Given the description of an element on the screen output the (x, y) to click on. 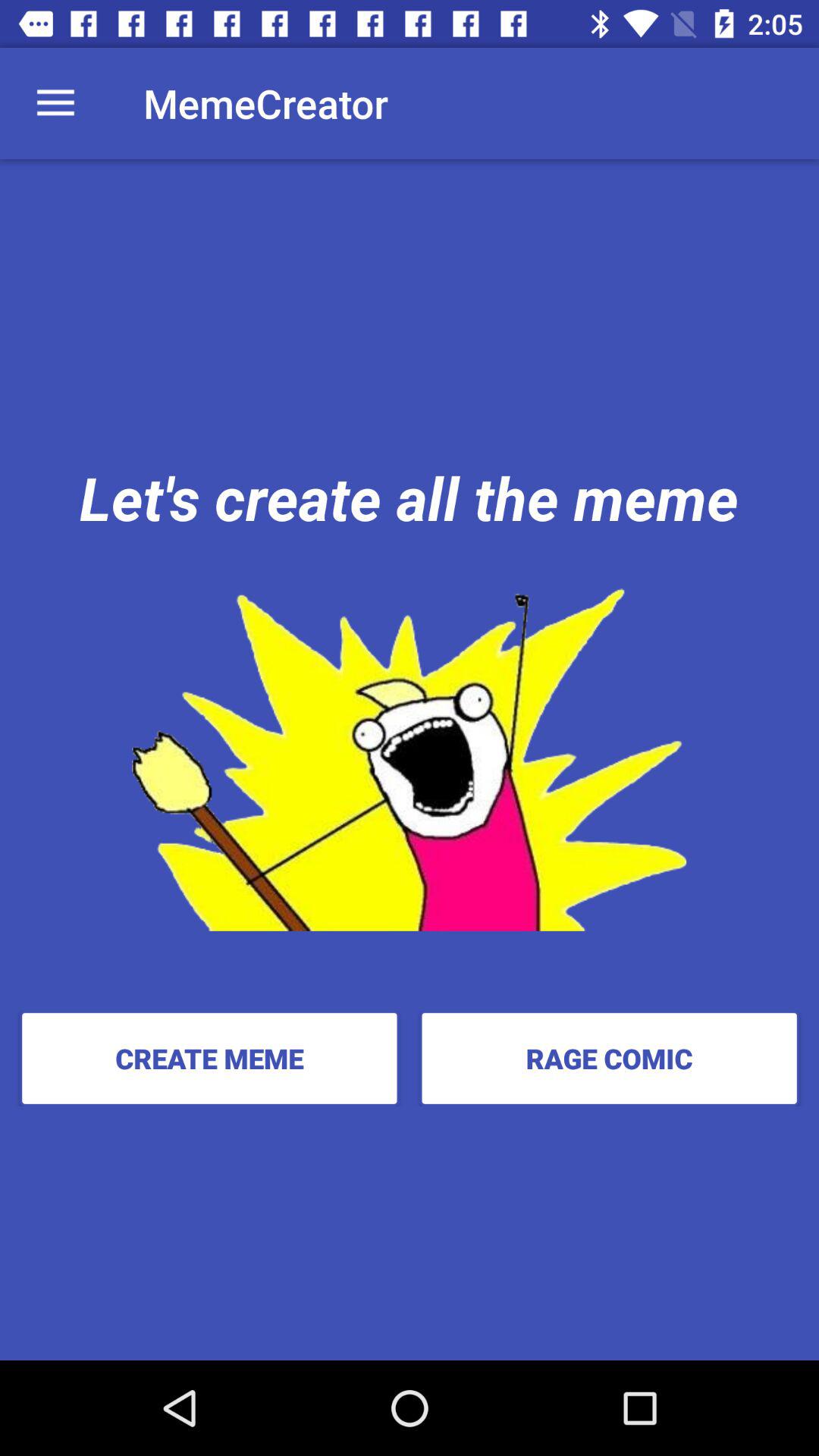
select the icon next to memecreator icon (55, 103)
